Given the description of an element on the screen output the (x, y) to click on. 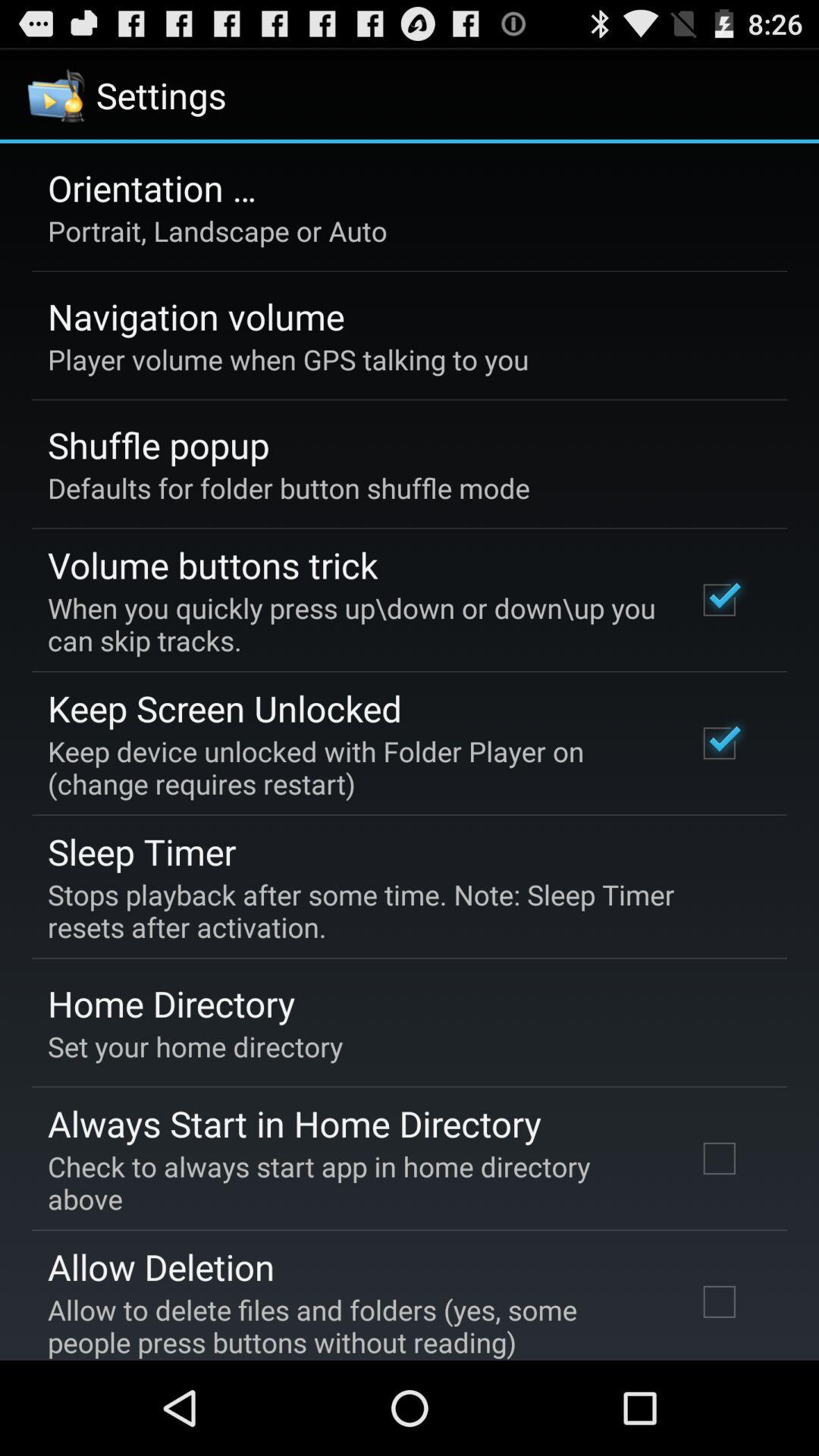
choose the item below check to always app (160, 1266)
